Given the description of an element on the screen output the (x, y) to click on. 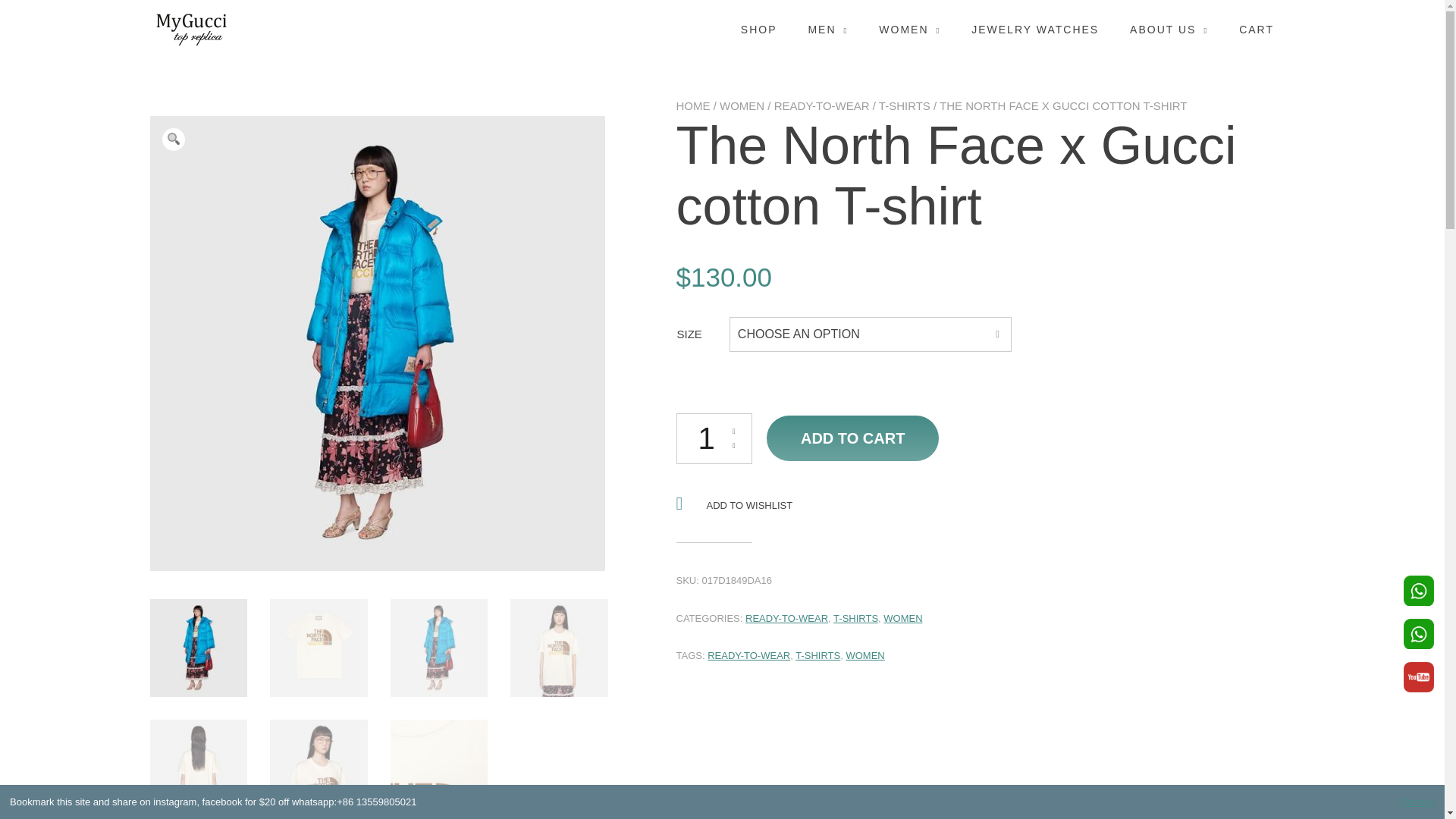
MEN (827, 29)
JEWELRY WATCHES (1035, 29)
Choose an option (867, 334)
WOMEN (909, 29)
Qty (714, 438)
1 (714, 438)
ABOUT US (1168, 29)
SHOP (759, 29)
